Given the description of an element on the screen output the (x, y) to click on. 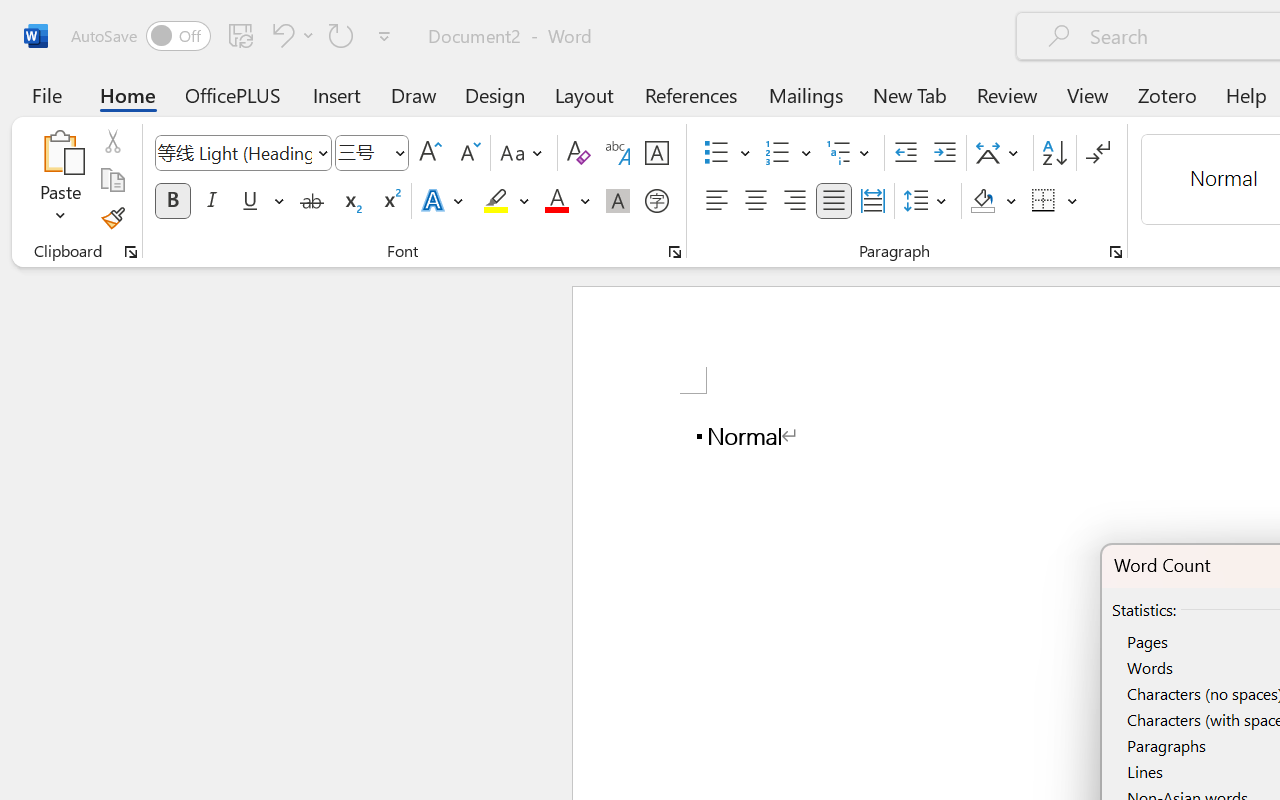
Multilevel List (850, 153)
Borders (1044, 201)
Undo Typing (280, 35)
Underline (250, 201)
Format Painter (112, 218)
Copy (112, 179)
Paragraph... (1115, 252)
Align Right (794, 201)
Home (127, 94)
Decrease Indent (906, 153)
Layout (584, 94)
Save (241, 35)
Paste (60, 151)
Shading RGB(0, 0, 0) (982, 201)
Align Left (716, 201)
